Given the description of an element on the screen output the (x, y) to click on. 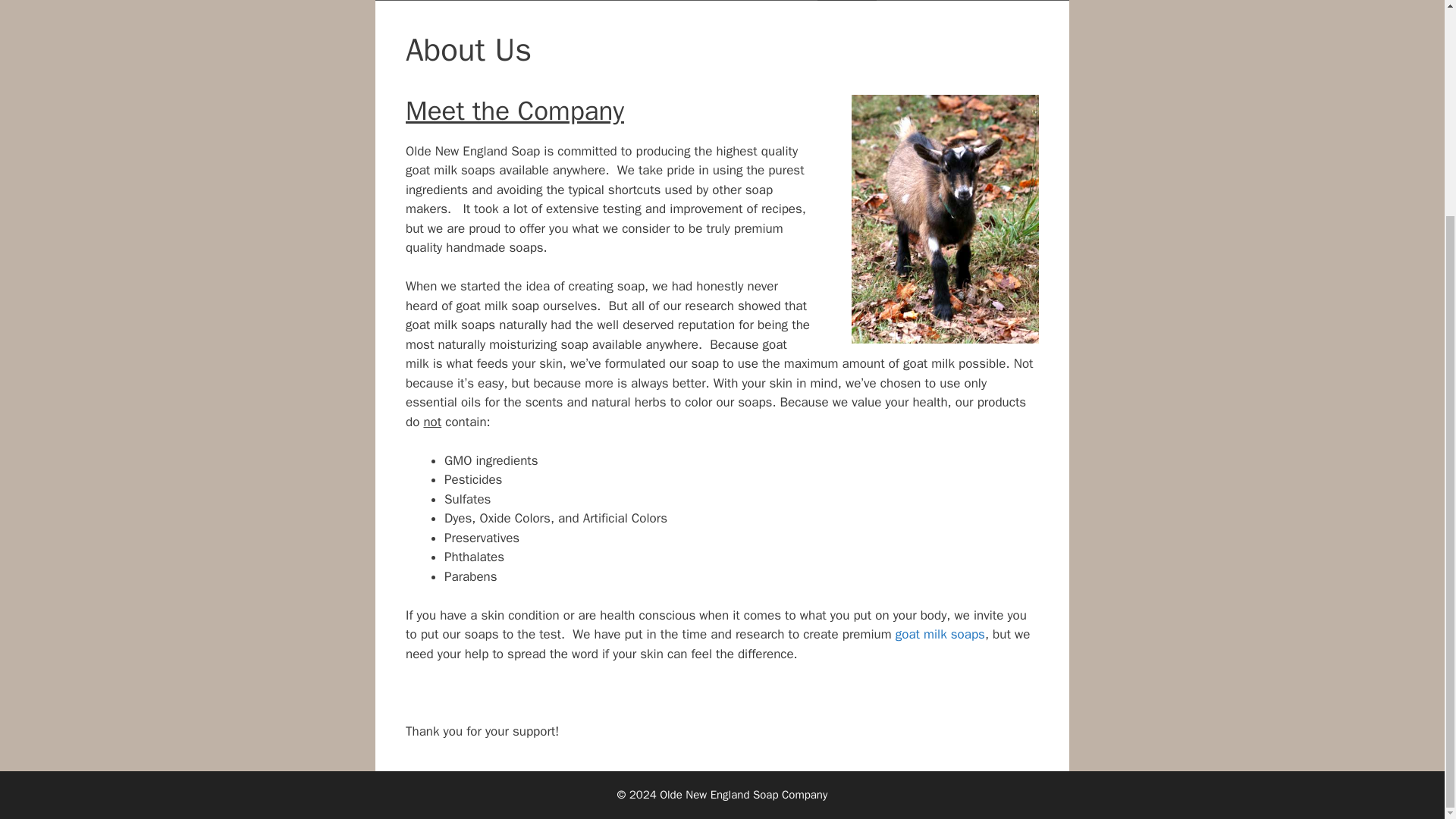
About (846, 0)
Home (427, 0)
Shopping Cart (985, 0)
goat milk soaps (940, 634)
